Given the description of an element on the screen output the (x, y) to click on. 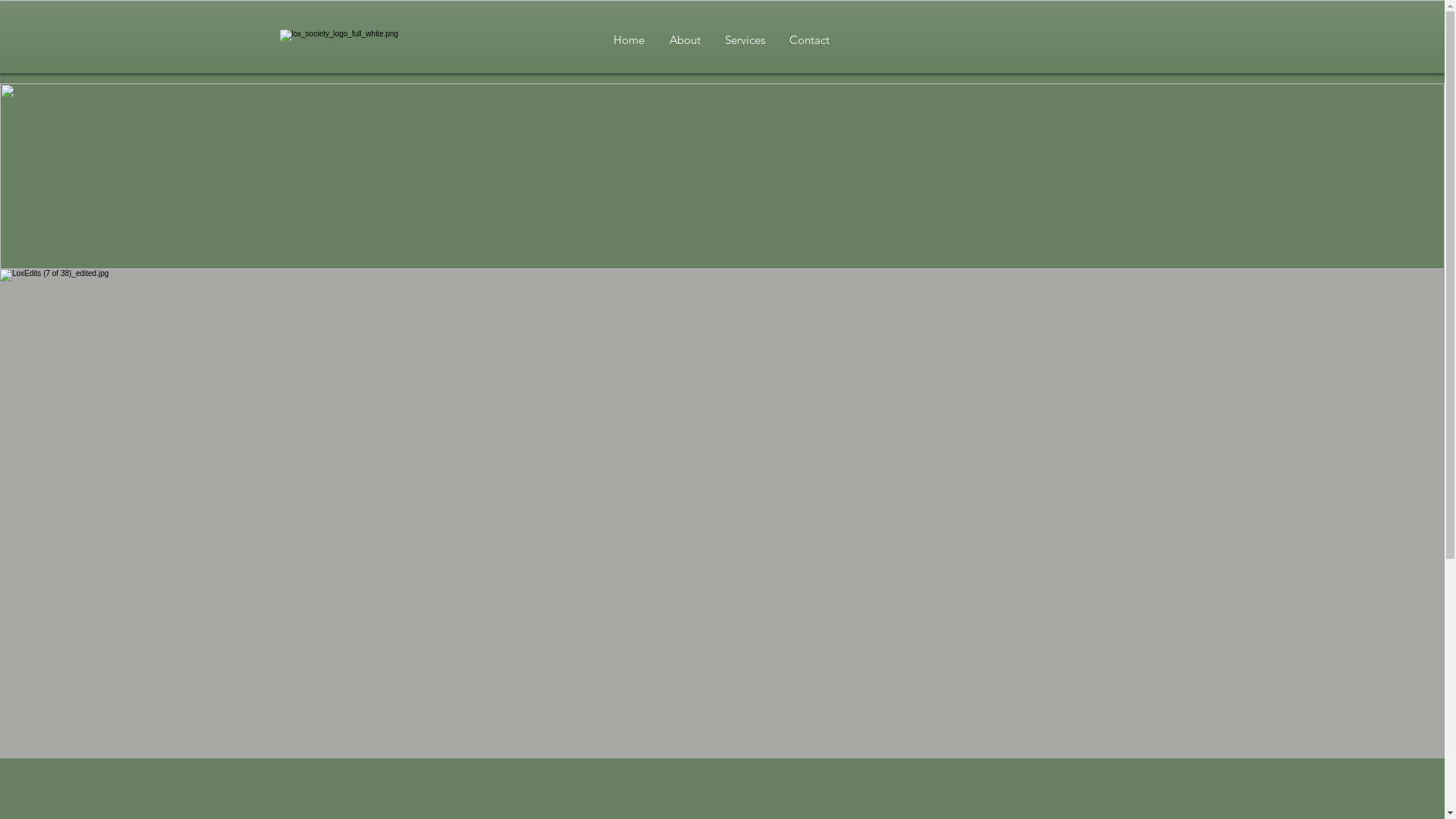
About Element type: text (684, 39)
Services Element type: text (744, 39)
Home Element type: text (628, 39)
Contact Element type: text (809, 39)
